Given the description of an element on the screen output the (x, y) to click on. 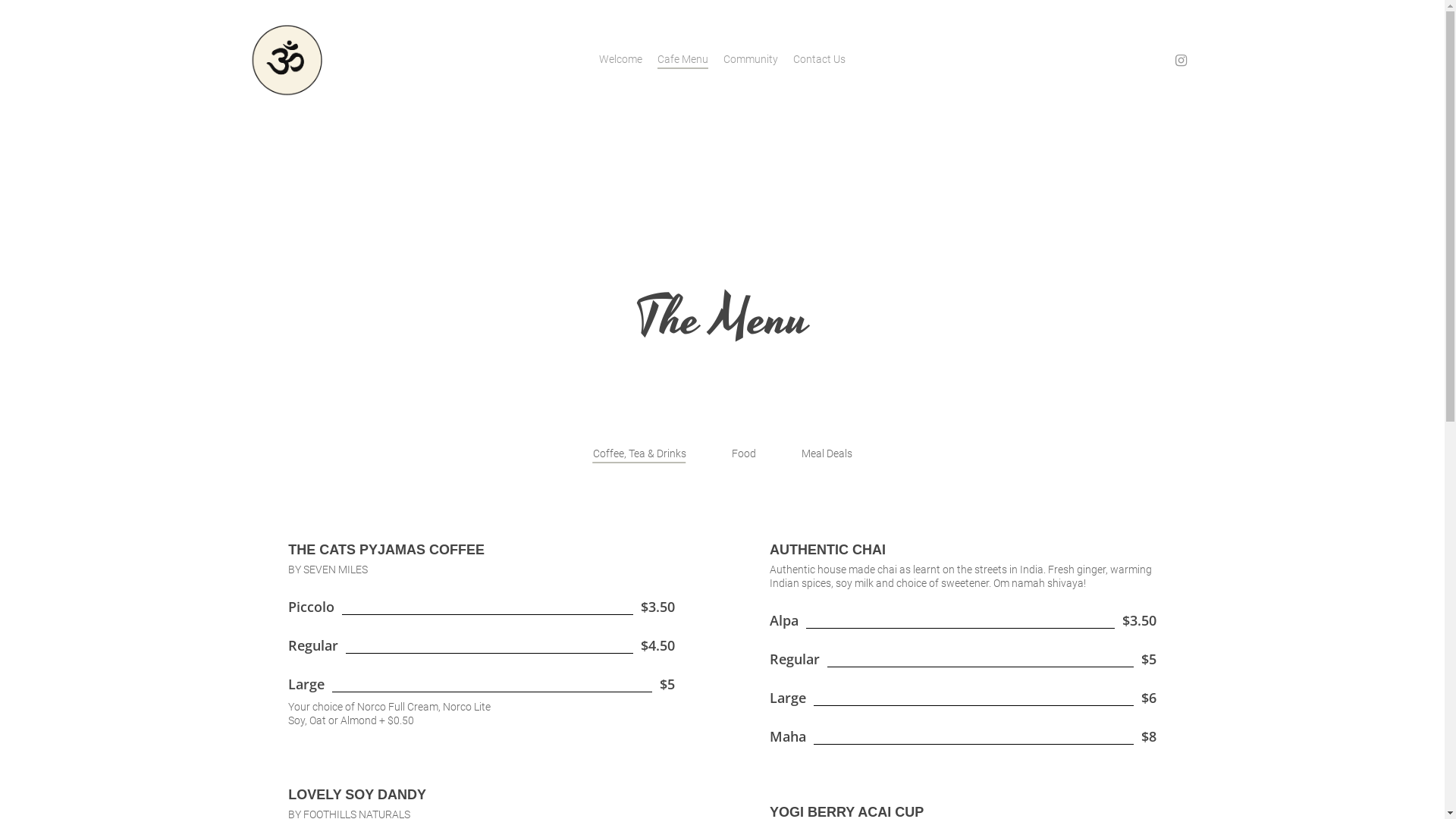
Food Element type: text (743, 453)
Coffee, Tea & Drinks Element type: text (639, 453)
Contact Us Element type: text (819, 58)
Welcome Element type: text (620, 58)
Community Element type: text (750, 58)
Cafe Menu Element type: text (682, 58)
Meal Deals Element type: text (825, 453)
